Given the description of an element on the screen output the (x, y) to click on. 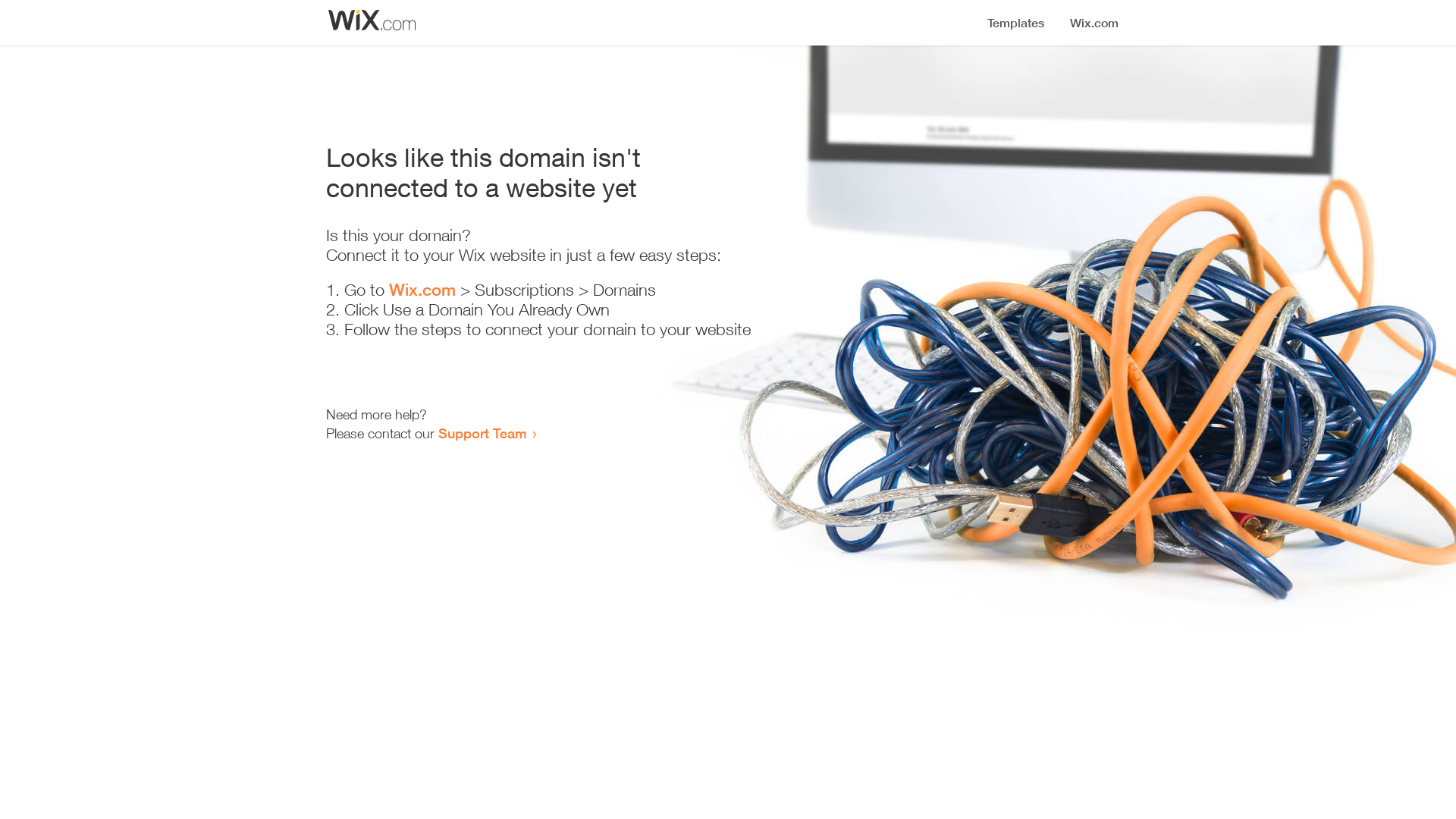
Wix.com Element type: text (422, 289)
Support Team Element type: text (482, 432)
